Given the description of an element on the screen output the (x, y) to click on. 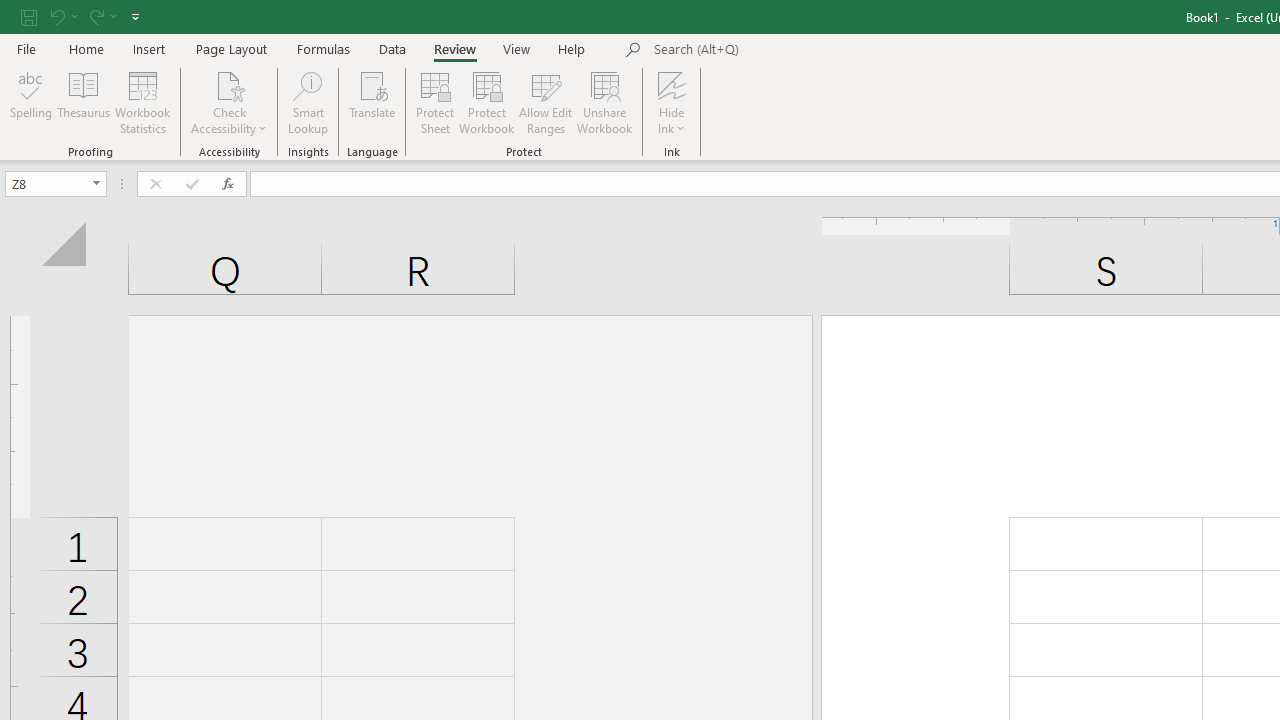
Spelling... (31, 102)
Allow Edit Ranges (545, 102)
Protect Sheet... (434, 102)
Workbook Statistics (142, 102)
Smart Lookup (308, 102)
